Given the description of an element on the screen output the (x, y) to click on. 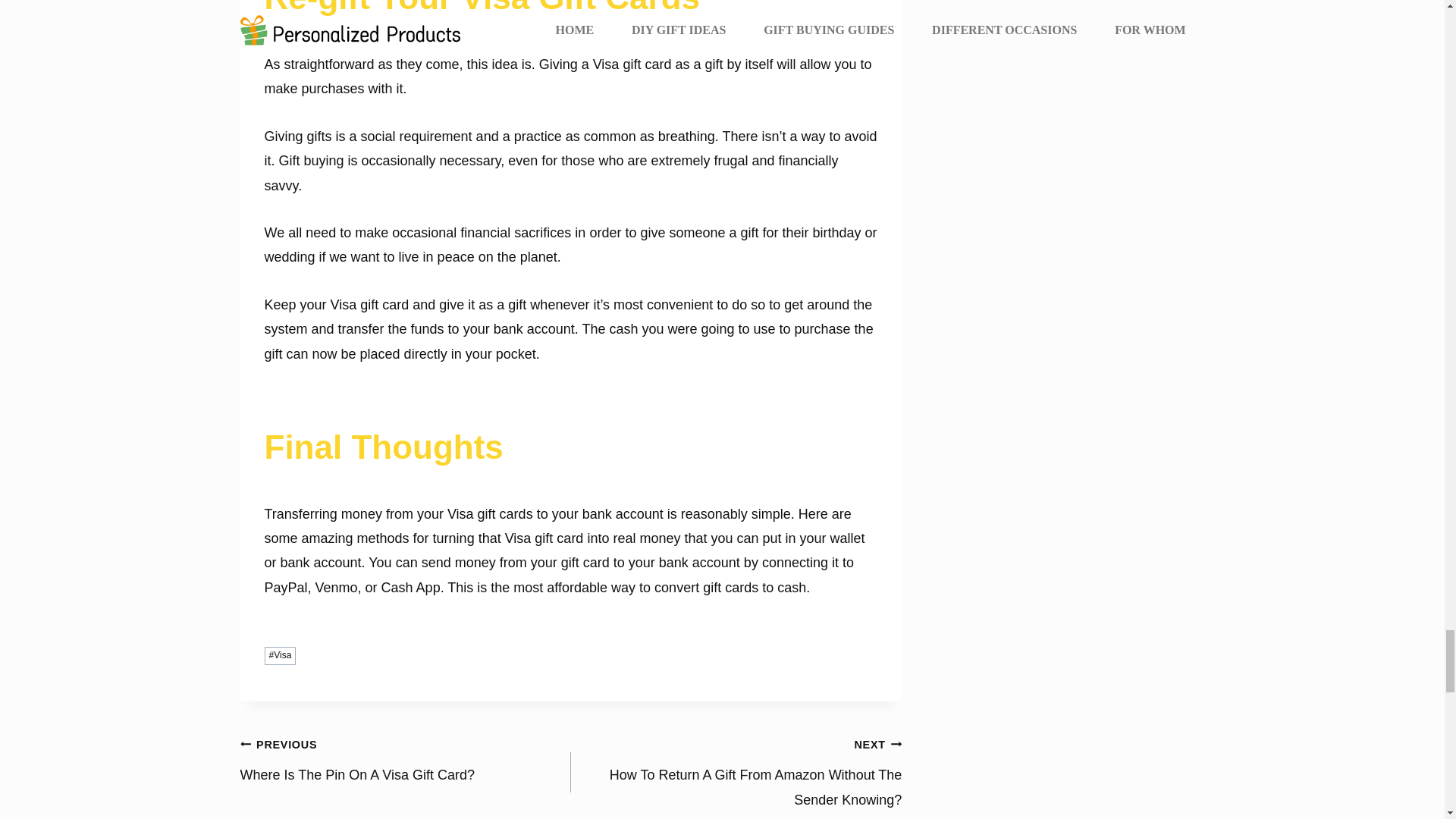
Visa (279, 656)
